Given the description of an element on the screen output the (x, y) to click on. 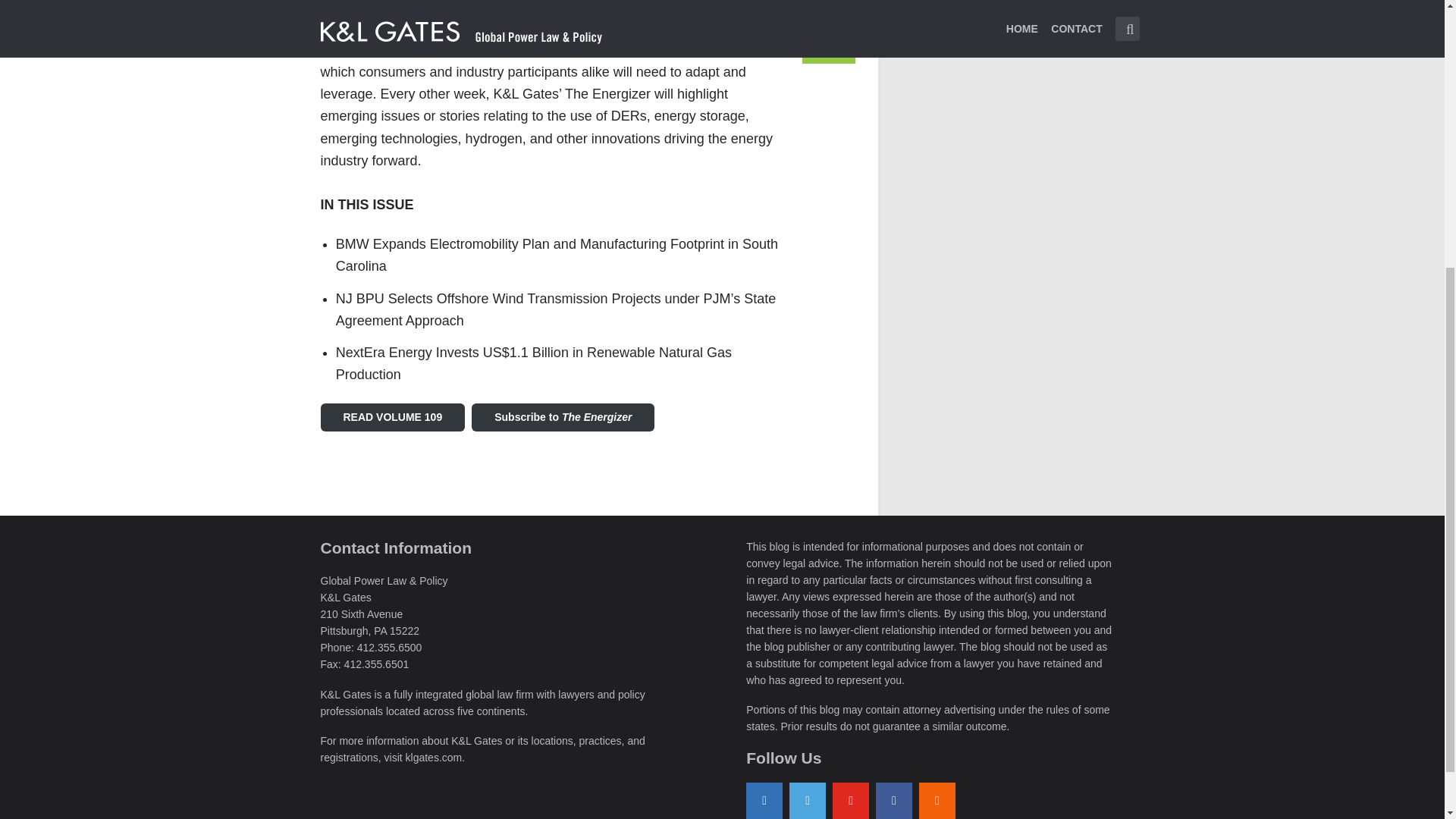
klgates.com (434, 757)
READ VOLUME 109 (392, 417)
Subscribe to The Energizer (562, 417)
